Given the description of an element on the screen output the (x, y) to click on. 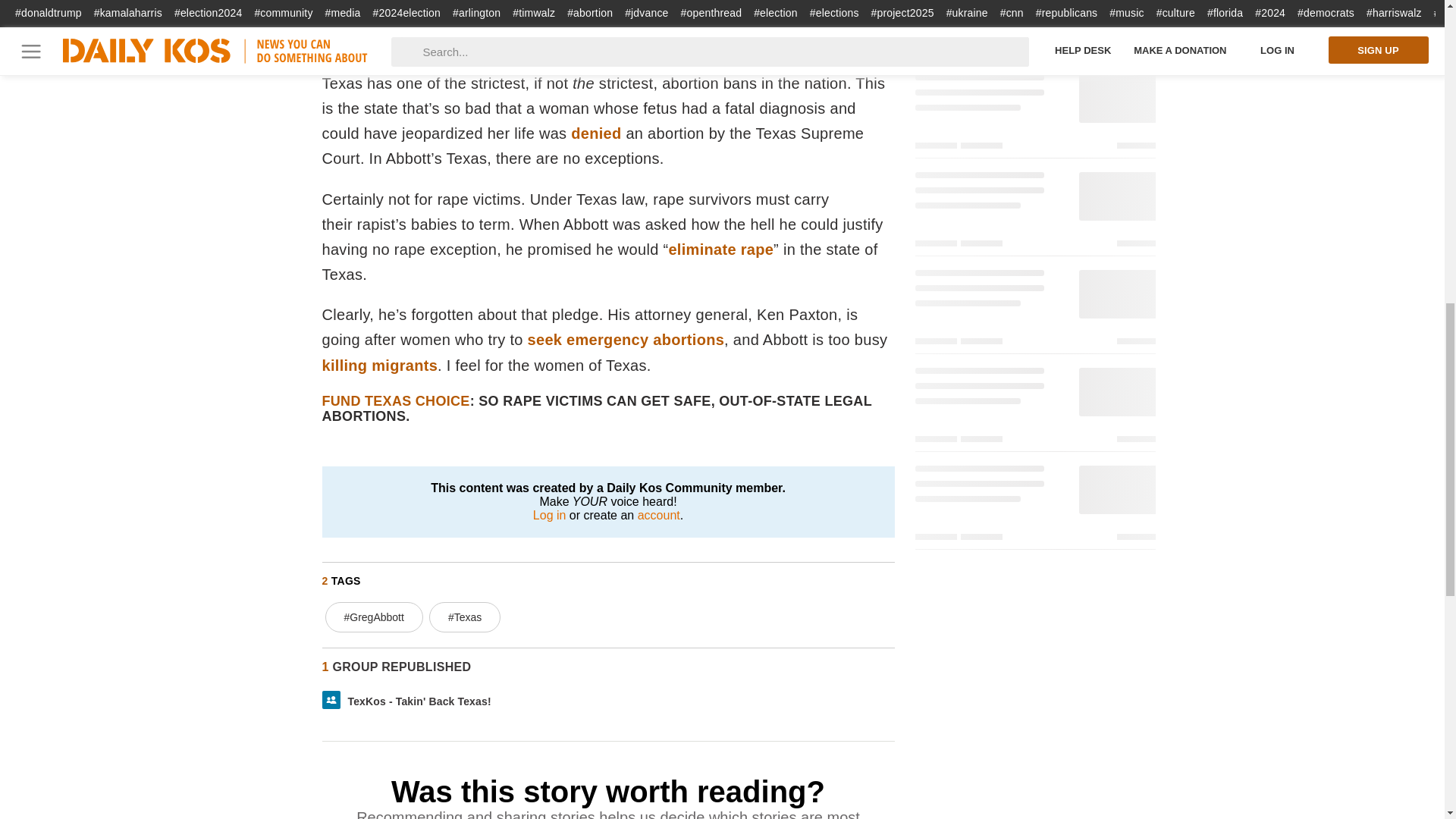
Loading... (1034, 309)
Loading... (1034, 113)
Loading... (1034, 211)
Loading... (1034, 407)
Loading... (1034, 504)
Loading... (1034, 31)
